Given the description of an element on the screen output the (x, y) to click on. 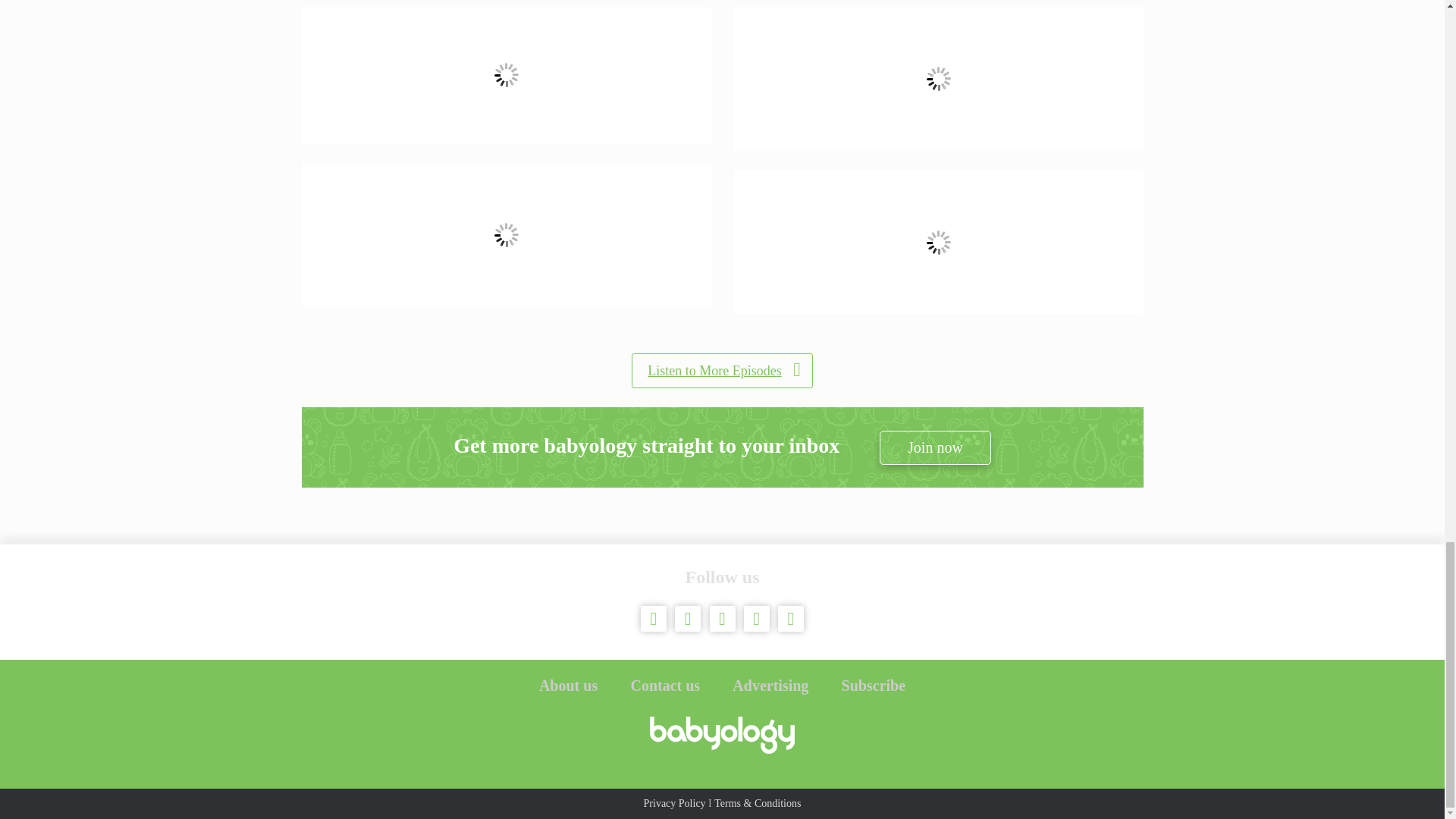
How to accept your post-baby body (506, 74)
